Given the description of an element on the screen output the (x, y) to click on. 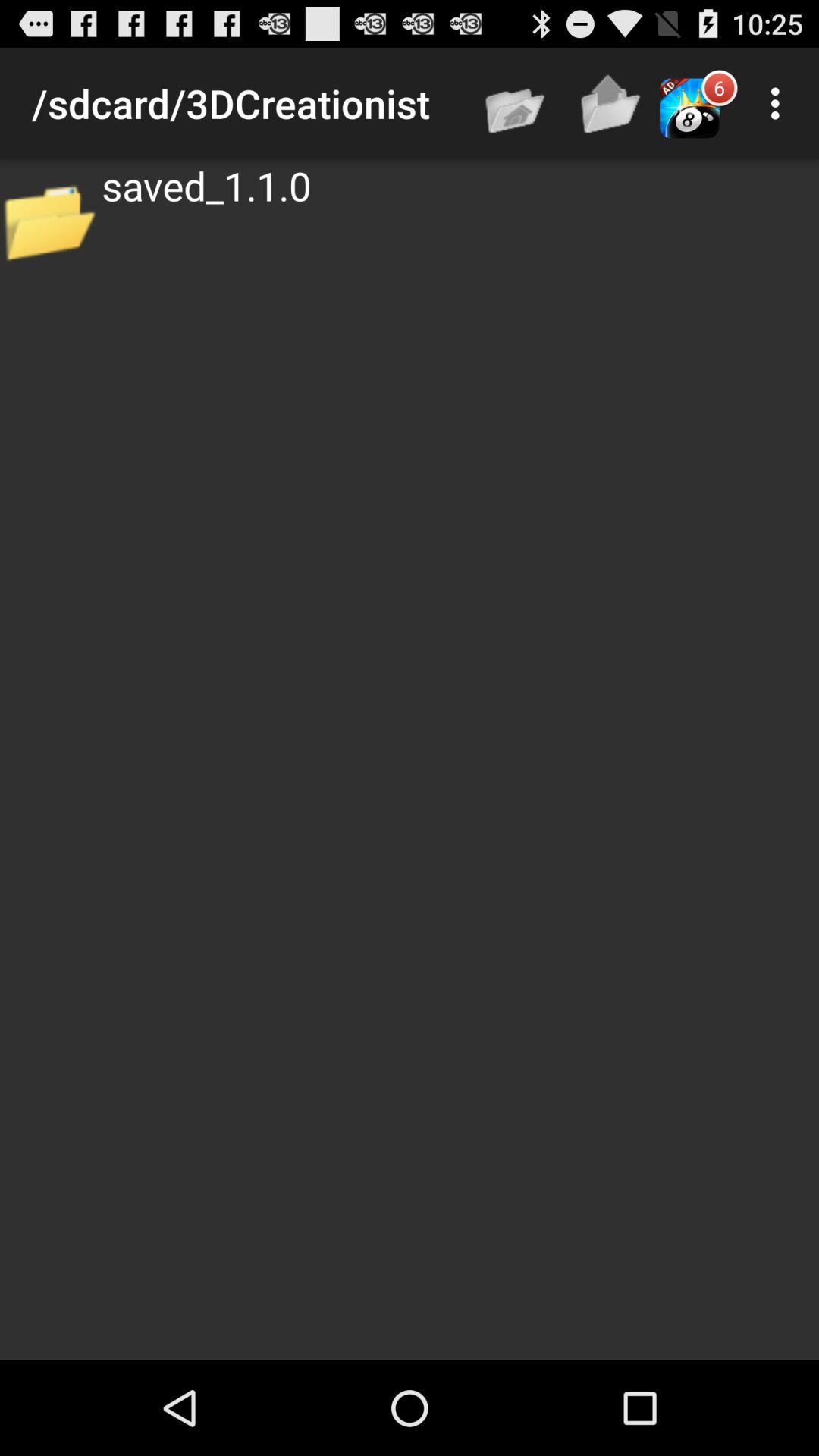
tap app above saved_1.1.0 app (516, 103)
